Given the description of an element on the screen output the (x, y) to click on. 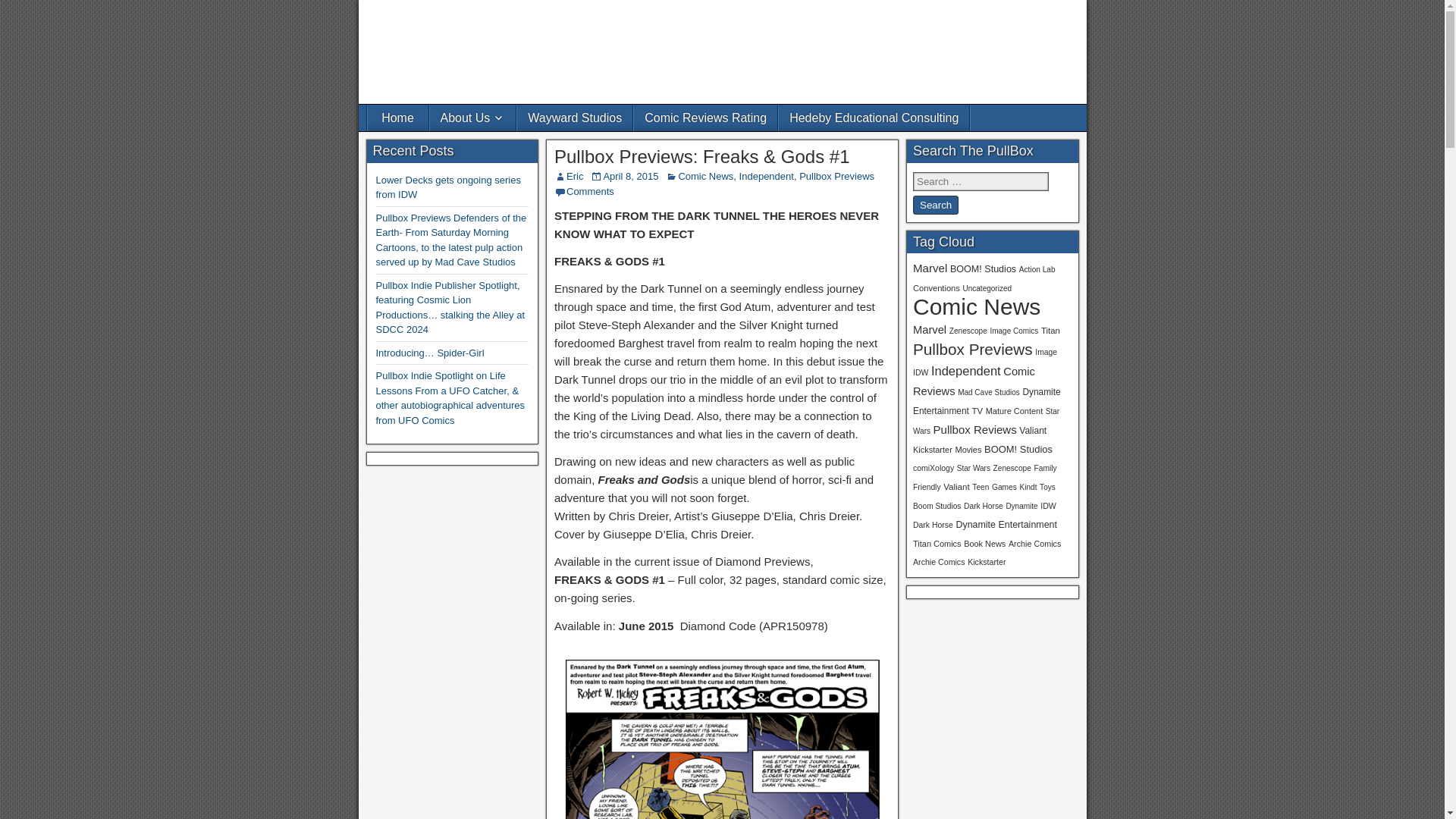
Search (935, 204)
Wayward Studios (573, 117)
Search (935, 204)
Independent (766, 175)
Eric (574, 175)
Comments (590, 191)
Pullbox Previews (837, 175)
Comic News (705, 175)
Hedeby Educational Consulting (873, 117)
Home (397, 117)
Lower Decks gets ongoing series from IDW (448, 187)
Search (935, 204)
April 8, 2015 (630, 175)
About Us (472, 117)
